Given the description of an element on the screen output the (x, y) to click on. 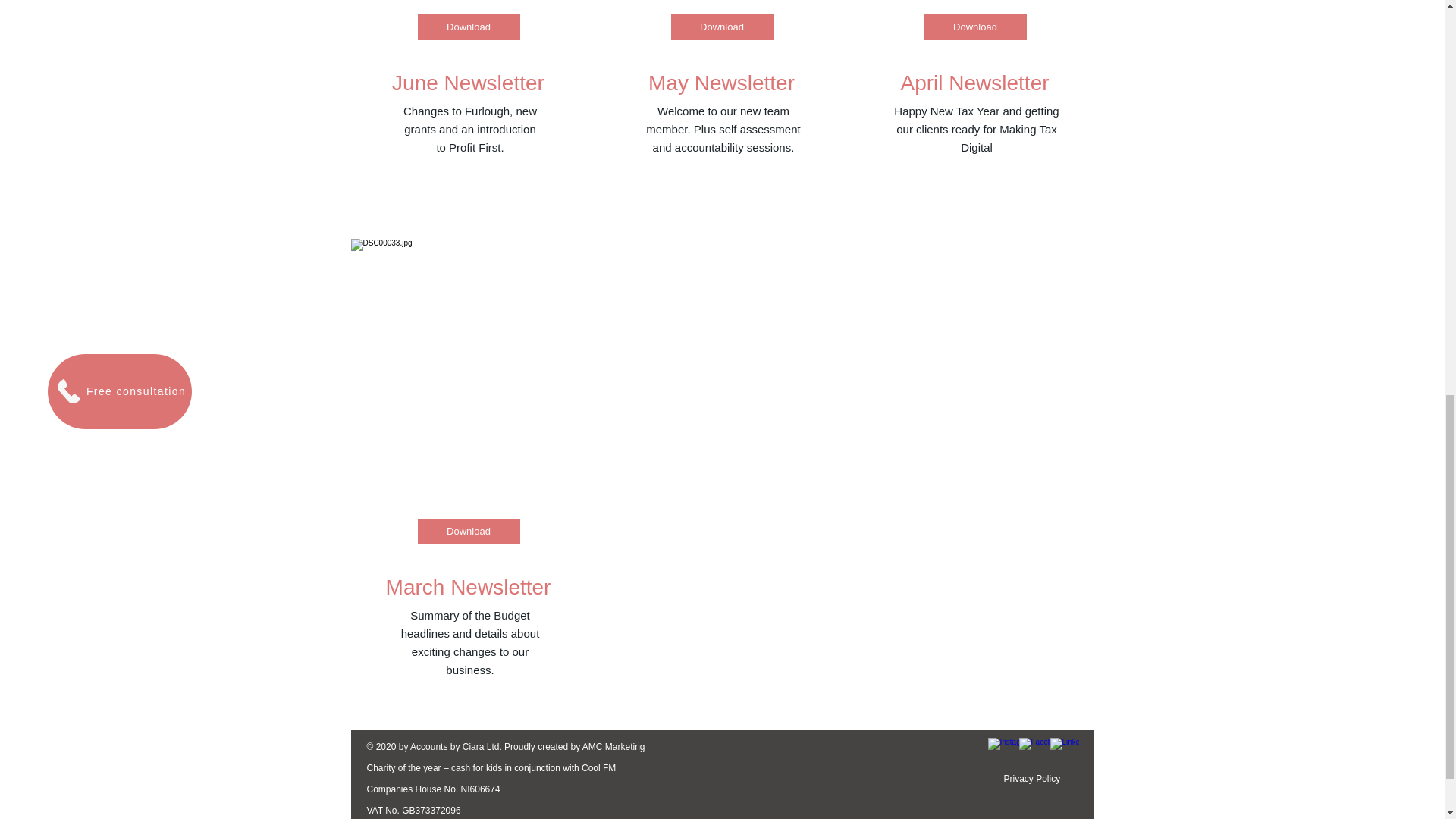
Download (721, 27)
Privacy Policy (1032, 778)
Download (974, 27)
Download (467, 27)
Download (467, 531)
